Given the description of an element on the screen output the (x, y) to click on. 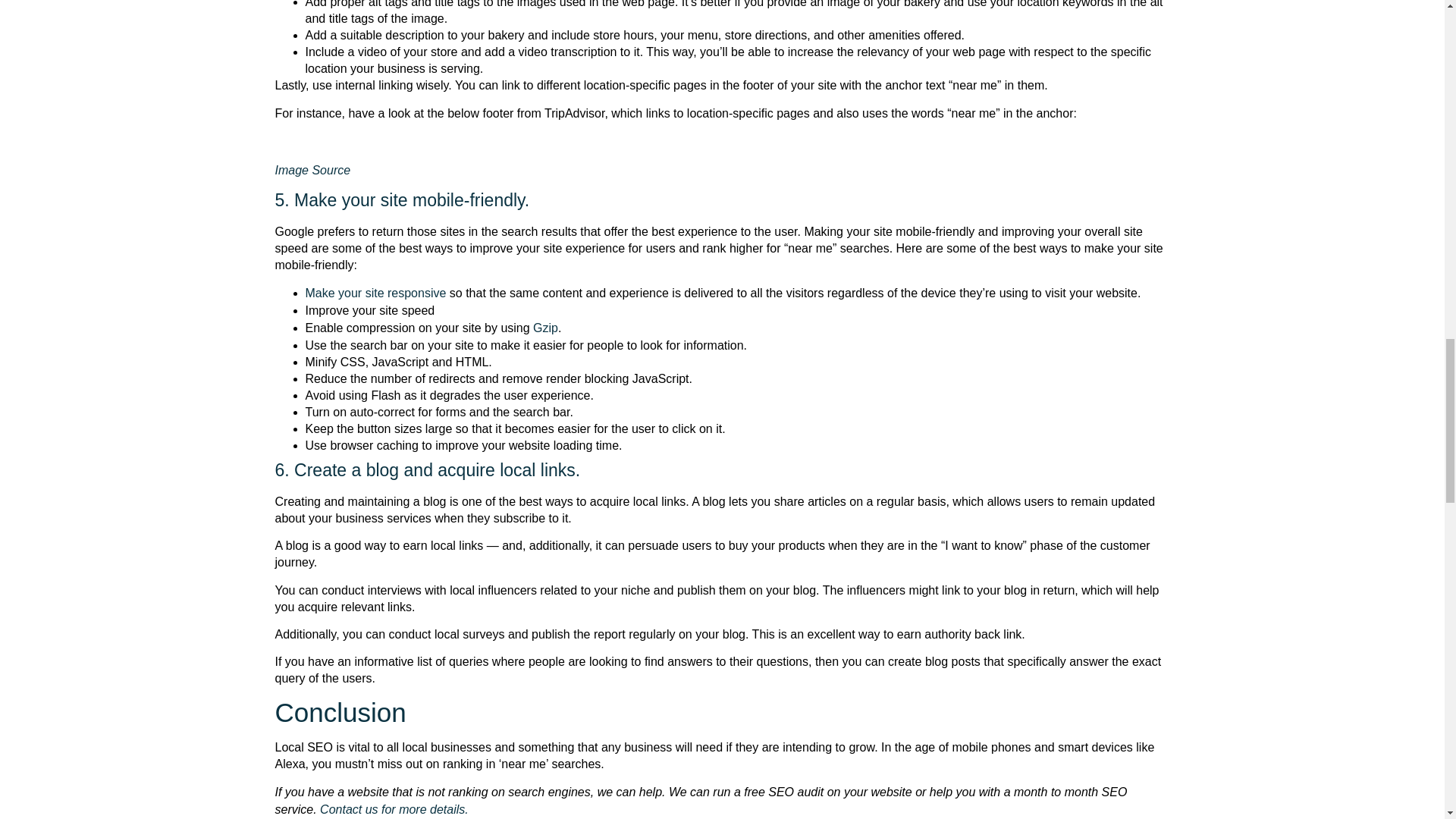
Contact us for more details. (394, 809)
Make your site responsive (374, 292)
Image Source (312, 169)
Gzip (544, 327)
